Given the description of an element on the screen output the (x, y) to click on. 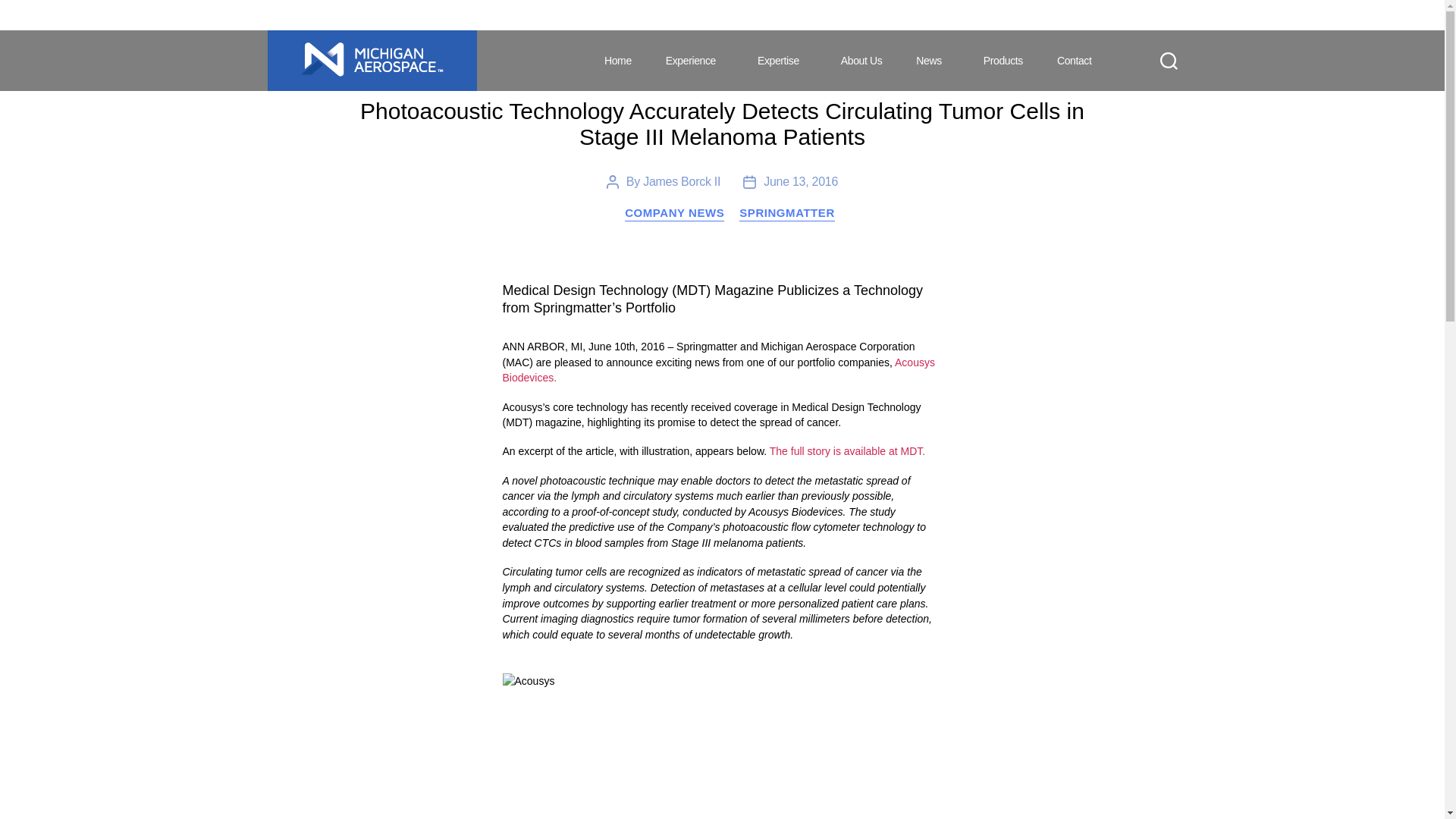
About Us (860, 60)
Products (1002, 60)
Expertise (781, 60)
Experience (694, 60)
